Given the description of an element on the screen output the (x, y) to click on. 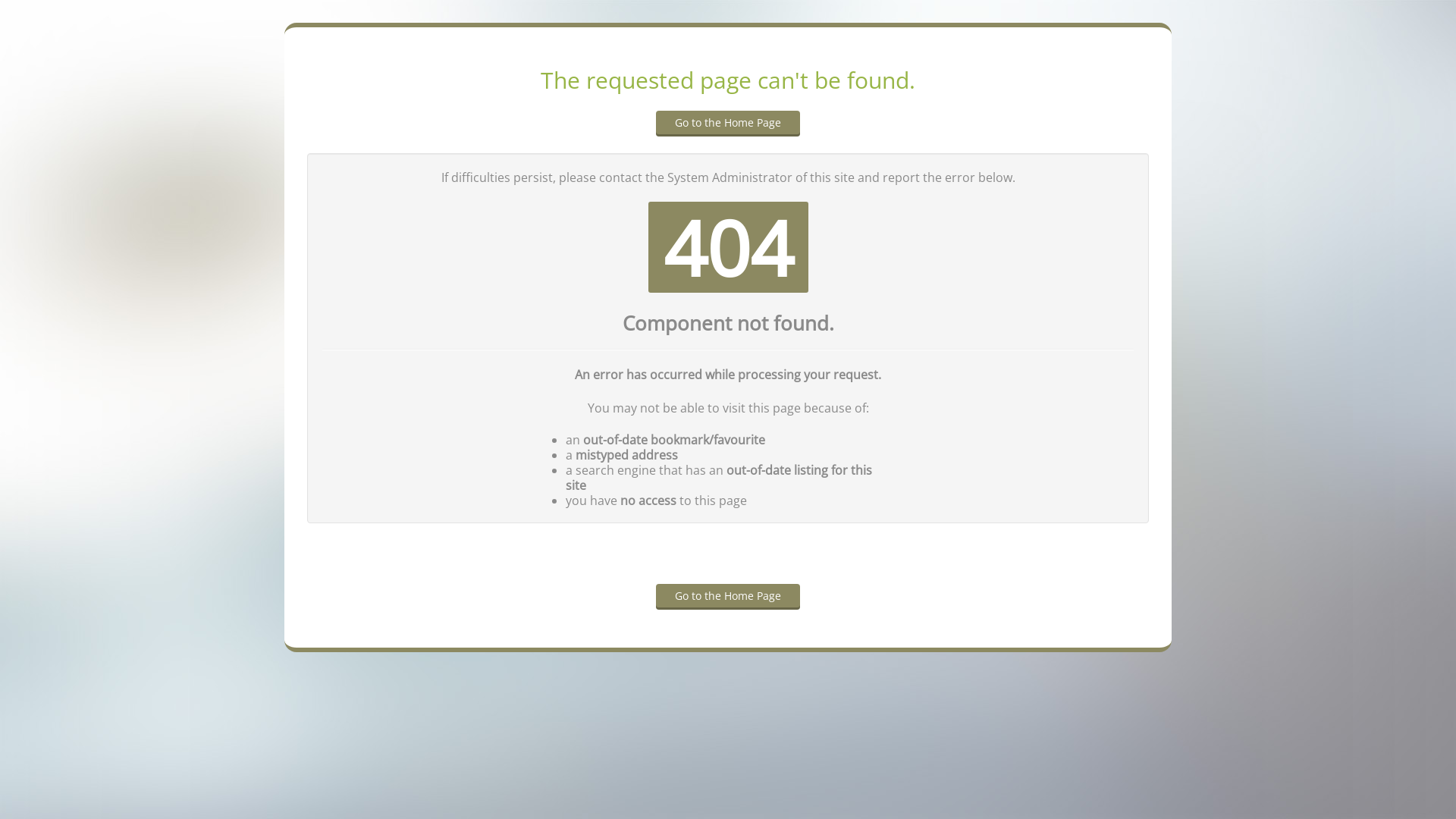
Go to the Home Page Element type: text (727, 123)
Go to the Home Page Element type: text (727, 596)
